Given the description of an element on the screen output the (x, y) to click on. 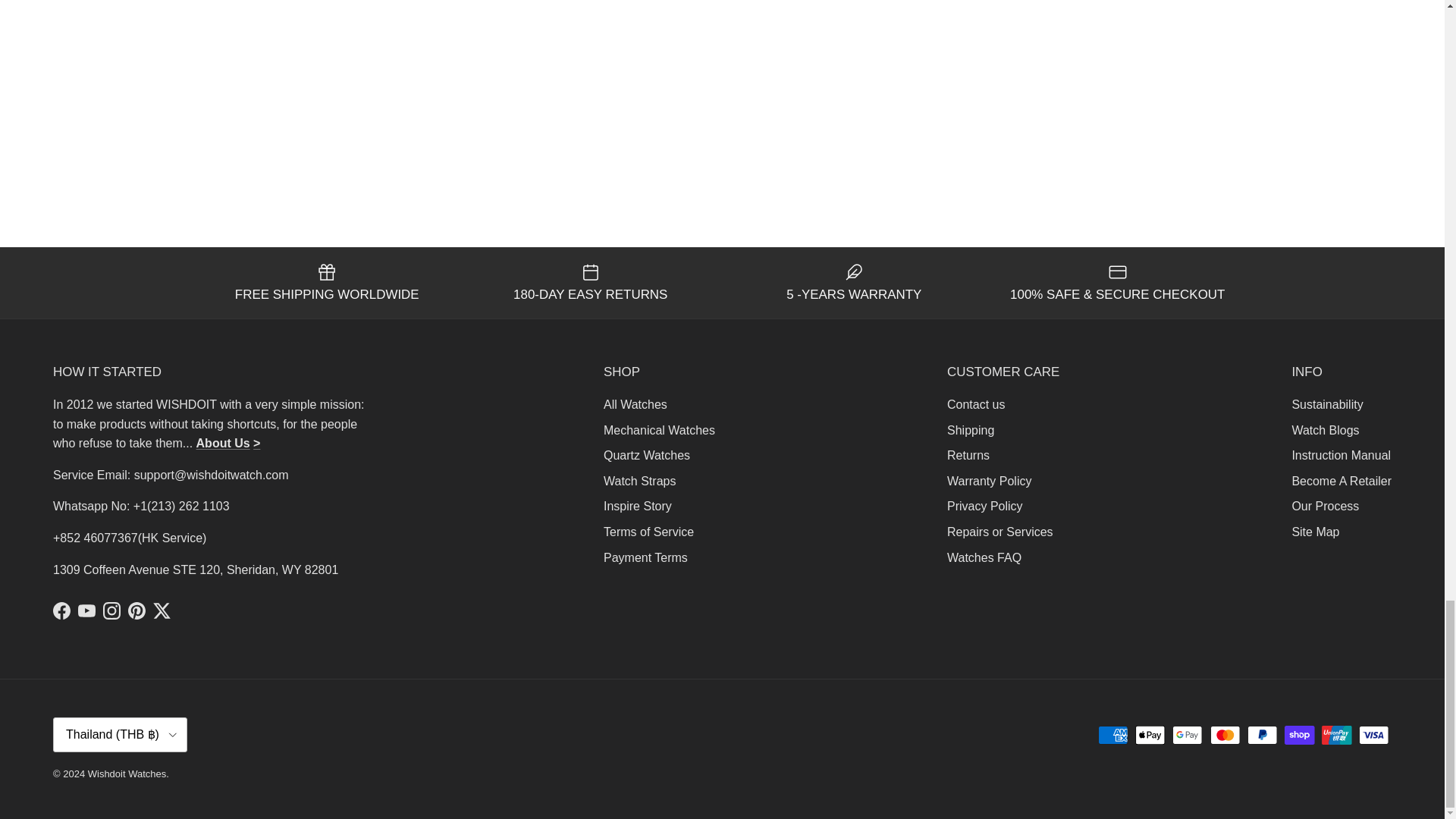
Mastercard (1224, 734)
Google Pay (1187, 734)
Union Pay (1336, 734)
PayPal (1261, 734)
Apple Pay (1149, 734)
Visa (1373, 734)
American Express (1112, 734)
Shop Pay (1299, 734)
